Given the description of an element on the screen output the (x, y) to click on. 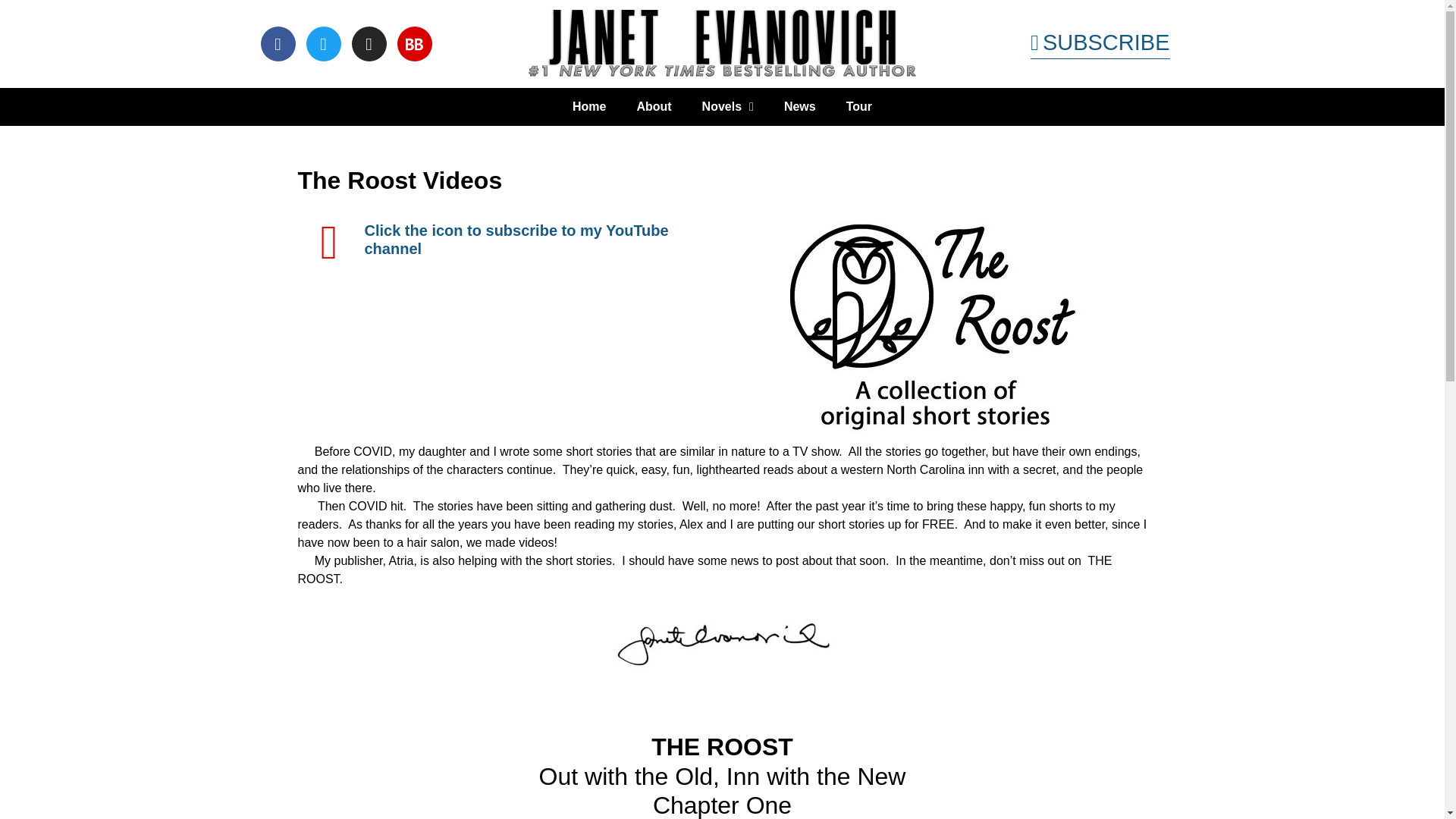
Tour (858, 106)
SUBSCRIBE (1099, 43)
About (653, 106)
Home (589, 106)
Novels (727, 106)
News (799, 106)
